Given the description of an element on the screen output the (x, y) to click on. 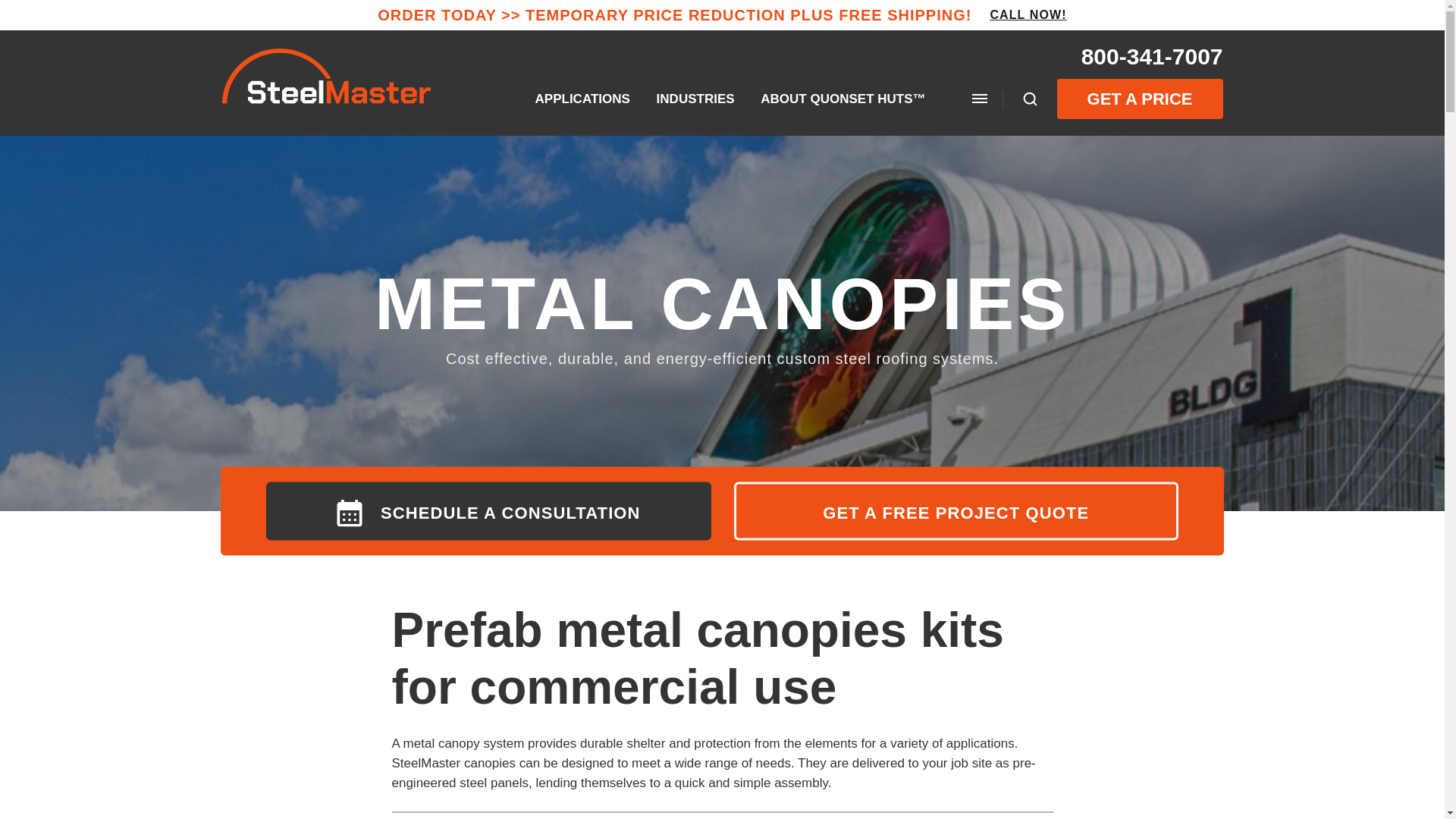
GET A PRICE (1140, 98)
INDUSTRIES (695, 98)
APPLICATIONS (582, 98)
CALL NOW! (1027, 14)
